Given the description of an element on the screen output the (x, y) to click on. 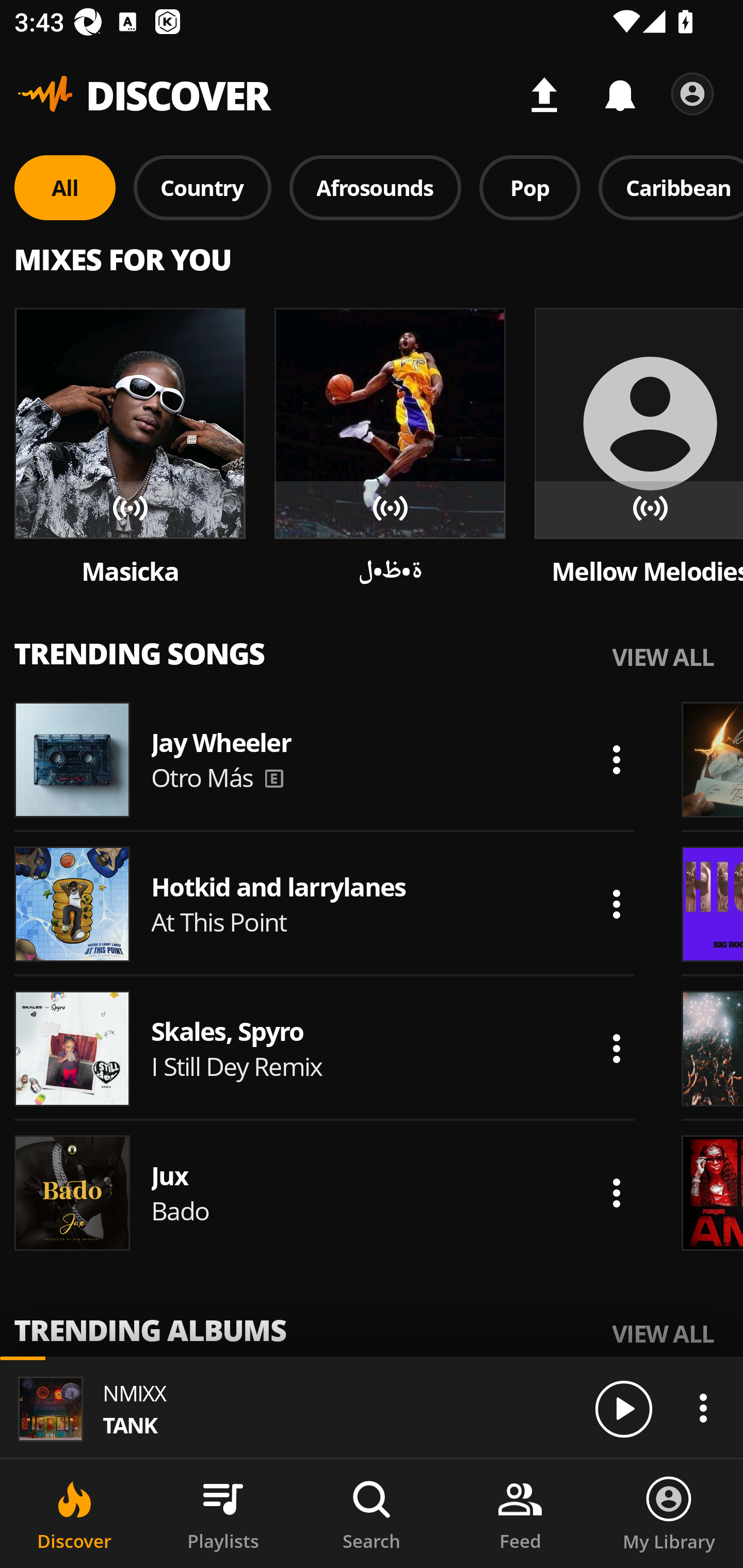
Settings (692, 94)
All (64, 187)
Country (202, 187)
Afrosounds (375, 187)
Pop (529, 187)
Caribbean (670, 187)
Song artwork Song artwork Song artwork Masicka (129, 447)
Song artwork Song artwork Song artwork ة•ظ•ل (389, 447)
VIEW ALL (663, 655)
Song artwork Jay Wheeler Otro Más    Actions (324, 759)
Actions (616, 759)
Actions (616, 903)
Actions (616, 1048)
Song artwork Jux Bado Actions (324, 1193)
Actions (616, 1193)
VIEW ALL (663, 1333)
Actions (703, 1407)
Play/Pause (623, 1408)
Discover (74, 1513)
Playlists (222, 1513)
Search (371, 1513)
Feed (519, 1513)
My Library (668, 1513)
